Given the description of an element on the screen output the (x, y) to click on. 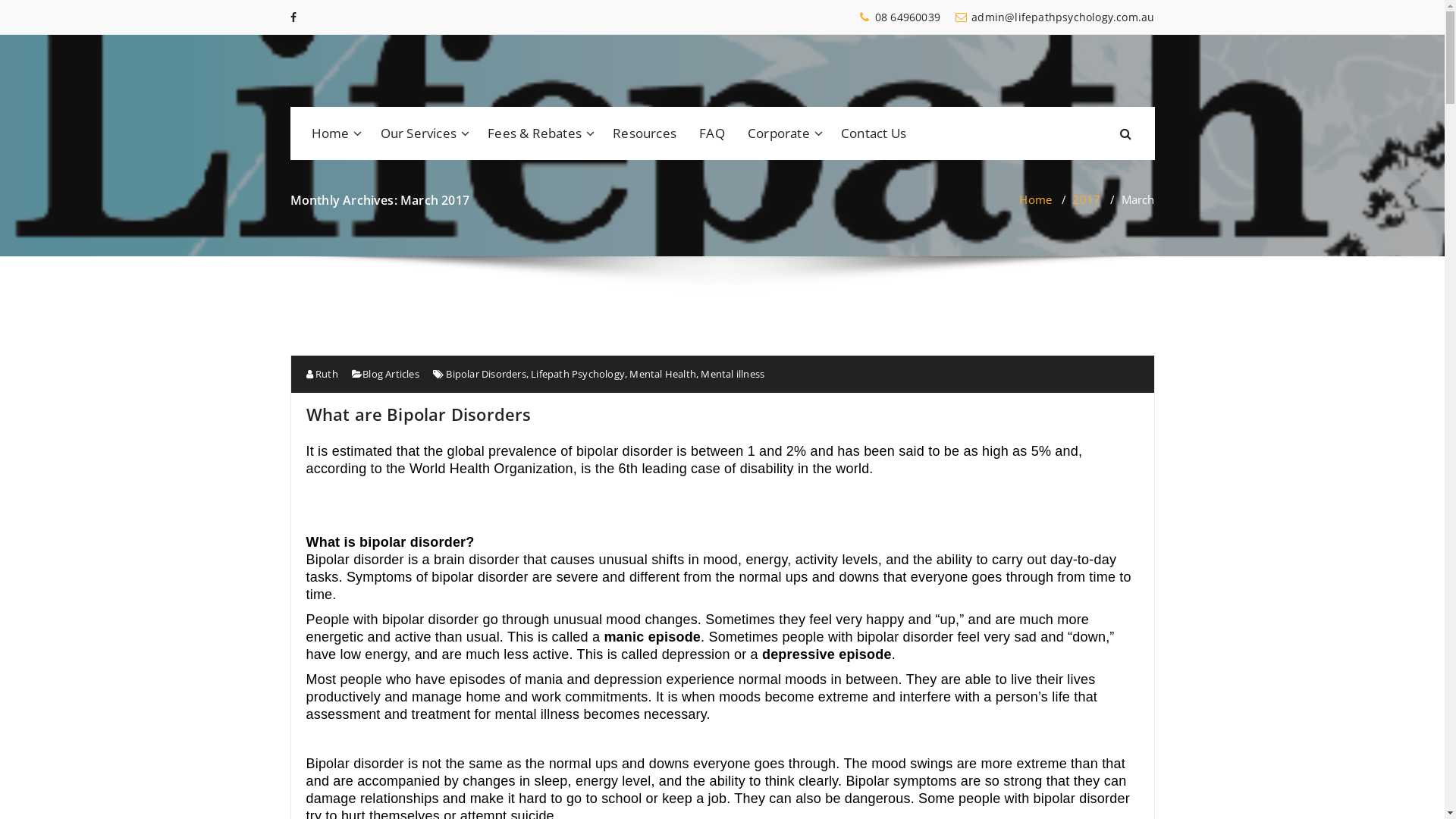
FAQ Element type: text (711, 133)
Bipolar Disorders Element type: text (485, 373)
admin@lifepathpsychology.com.au Element type: text (1054, 17)
Resources Element type: text (644, 133)
What are Bipolar Disorders Element type: text (418, 413)
Our Services Element type: text (422, 133)
Corporate Element type: text (782, 133)
Lifepath Psychology Element type: text (577, 373)
Mental illness Element type: text (732, 373)
Contact Us Element type: text (873, 133)
Mental Health Element type: text (662, 373)
2017 Element type: text (1086, 199)
08 64960039 Element type: text (899, 17)
Blog Articles Element type: text (390, 373)
Ruth Element type: text (322, 373)
Home Element type: text (1035, 199)
Fees & Rebates Element type: text (538, 133)
Home Element type: text (333, 133)
